Given the description of an element on the screen output the (x, y) to click on. 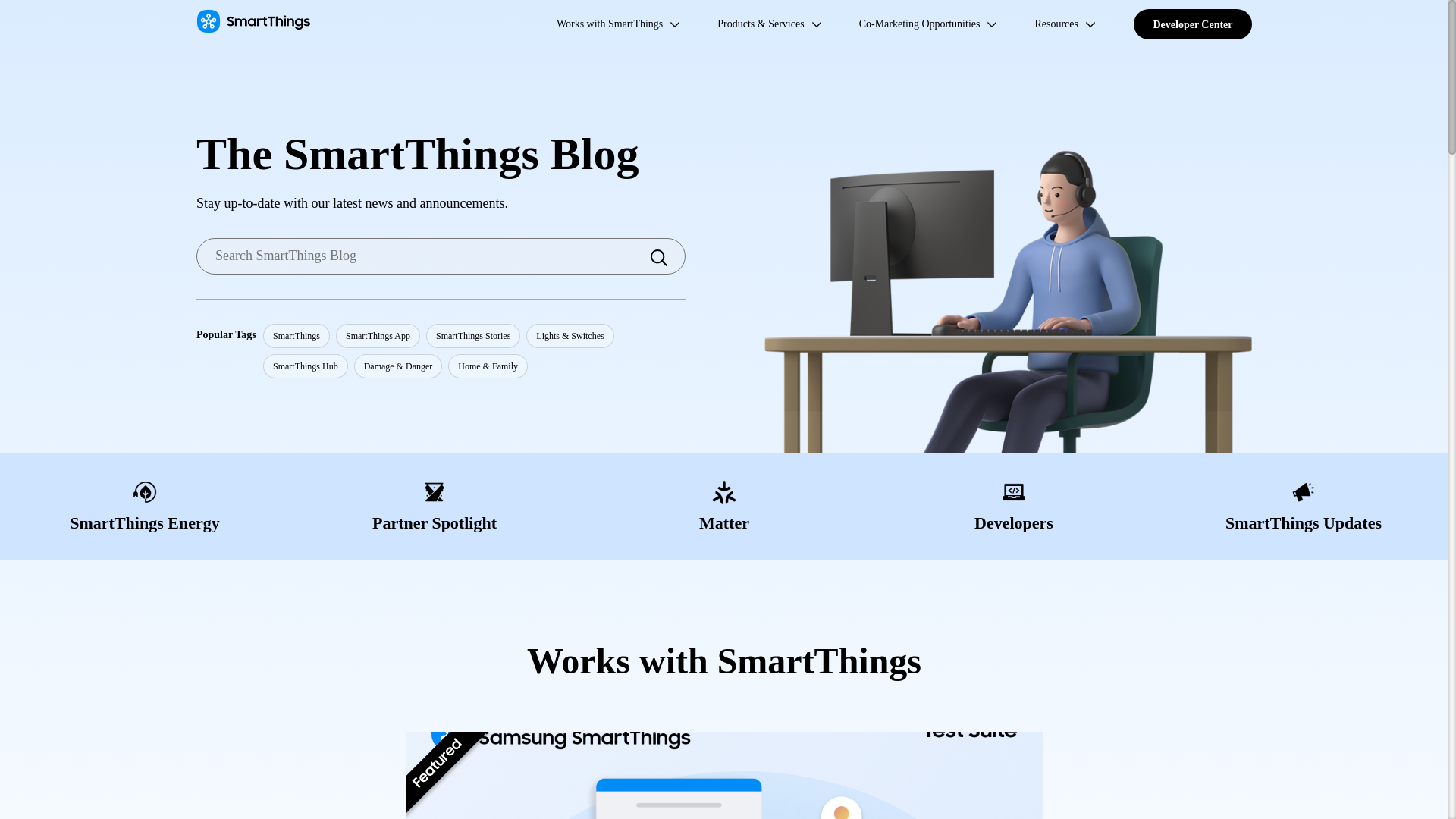
Co-Marketing Opportunities (919, 23)
Resources (1055, 23)
Developer Center (1193, 24)
Works with SmartThings (609, 23)
